Given the description of an element on the screen output the (x, y) to click on. 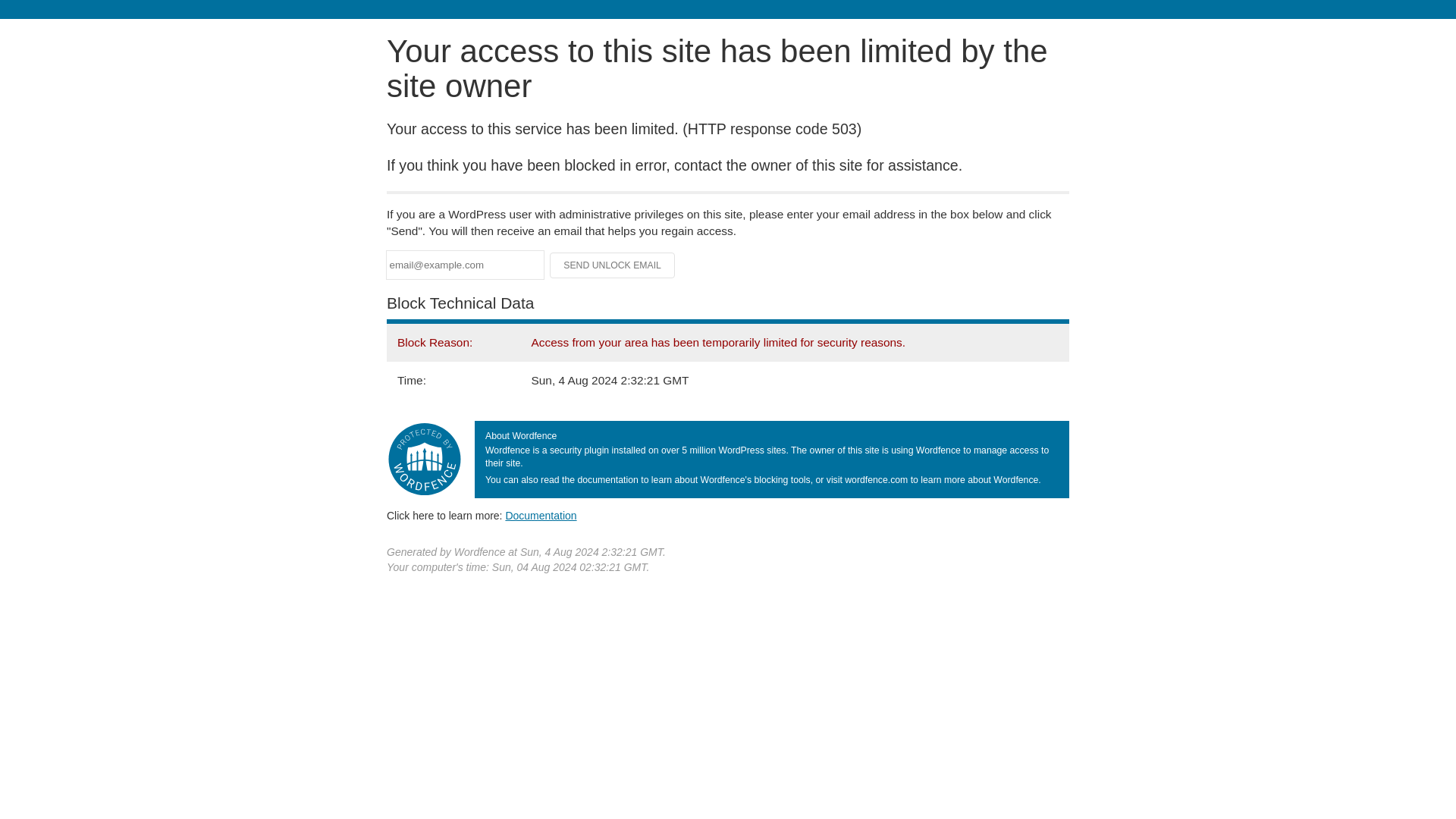
Documentation (540, 515)
Send Unlock Email (612, 265)
Send Unlock Email (612, 265)
